Given the description of an element on the screen output the (x, y) to click on. 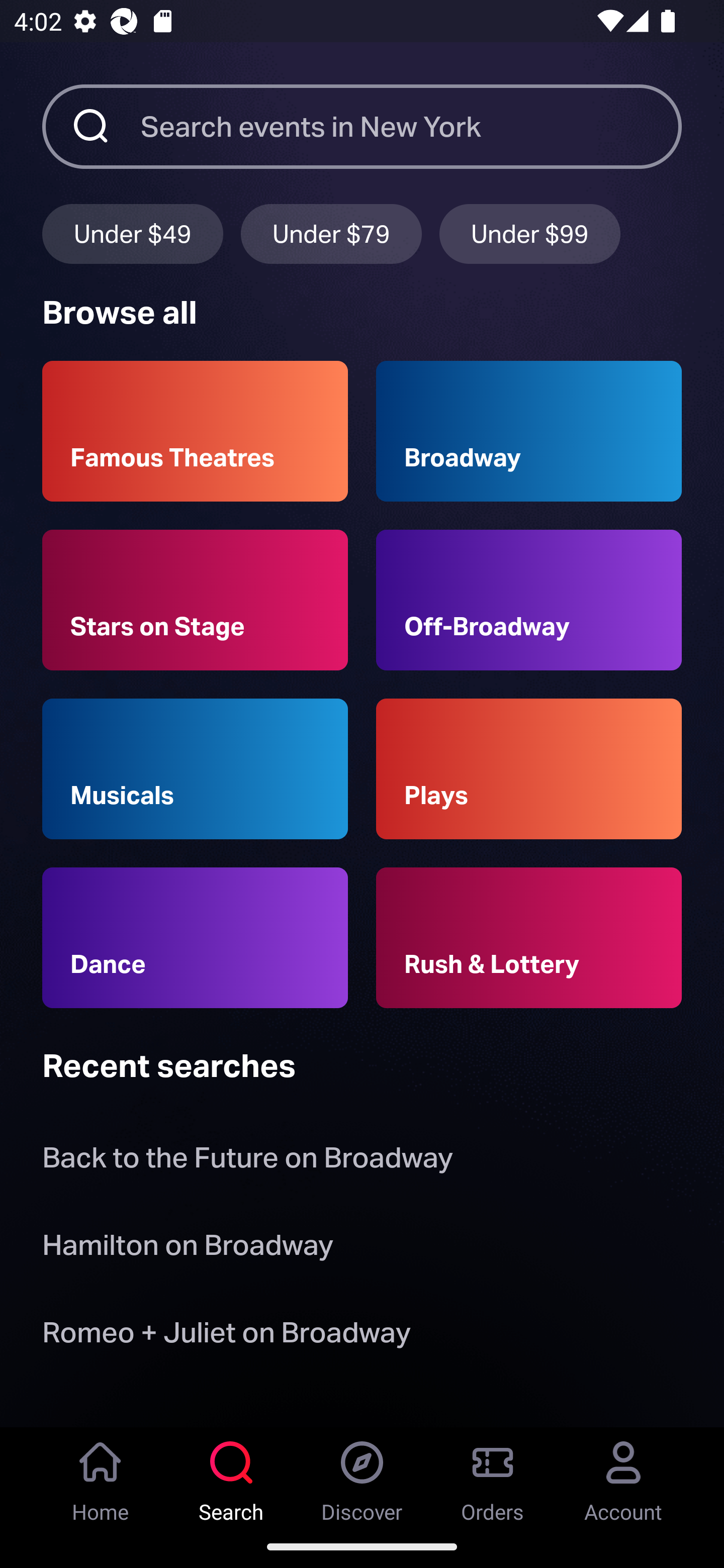
Search events in New York (411, 126)
Under $49 (131, 233)
Under $79 (331, 233)
Under $99 (529, 233)
Famous Theatres (194, 430)
Broadway (528, 430)
Stars on Stage (194, 600)
Off-Broadway (528, 600)
Musicals (194, 768)
Plays (528, 768)
Dance (194, 937)
Rush & Lottery (528, 937)
Back to the Future on Broadway (247, 1161)
Hamilton on Broadway (187, 1248)
Romeo + Juliet on Broadway (225, 1335)
Home (100, 1475)
Discover (361, 1475)
Orders (492, 1475)
Account (623, 1475)
